Given the description of an element on the screen output the (x, y) to click on. 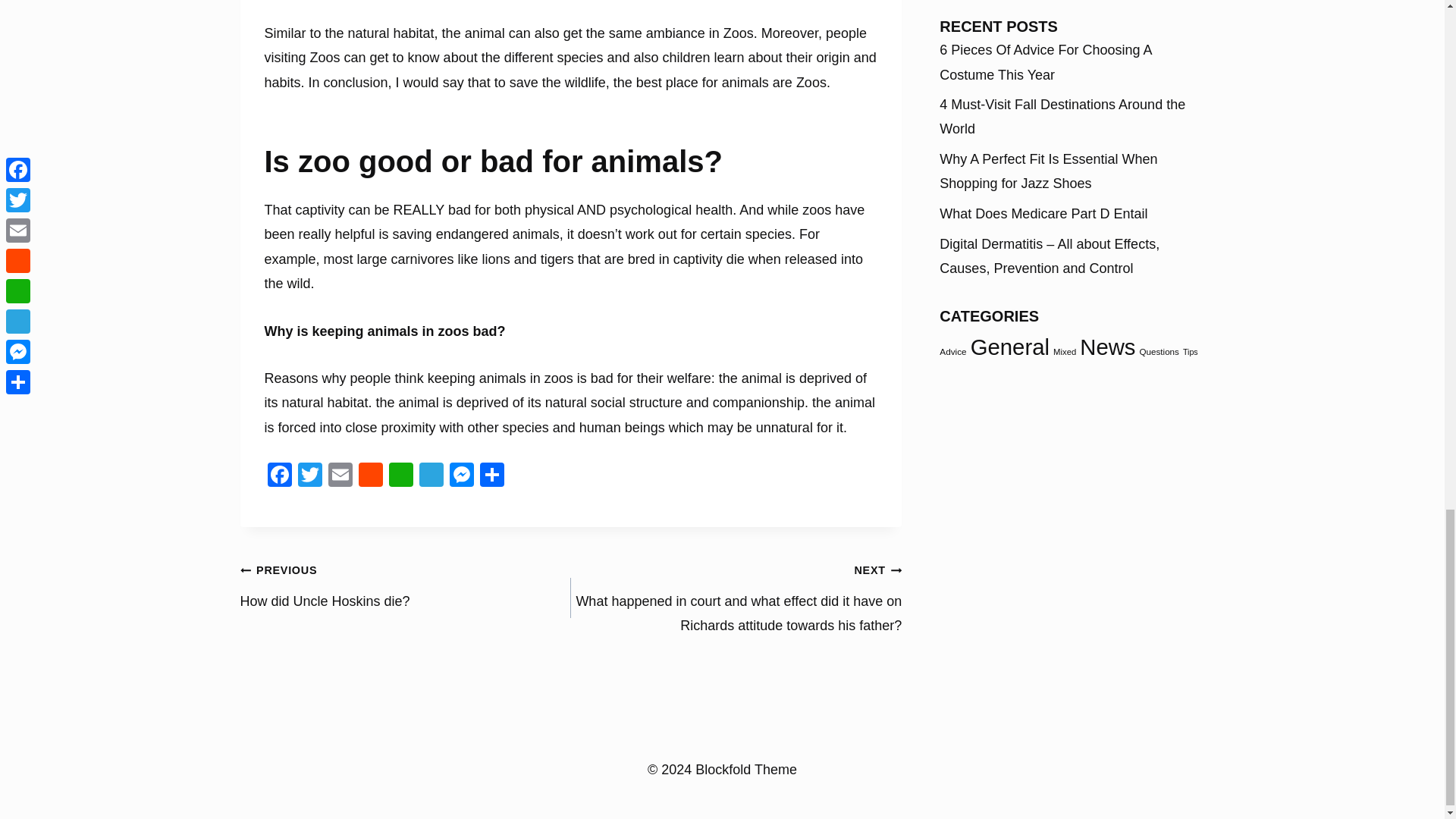
Twitter (309, 476)
Telegram (429, 476)
Messenger (460, 476)
Twitter (309, 476)
Facebook (278, 476)
Reddit (370, 476)
WhatsApp (399, 476)
Email (339, 476)
Facebook (278, 476)
